Given the description of an element on the screen output the (x, y) to click on. 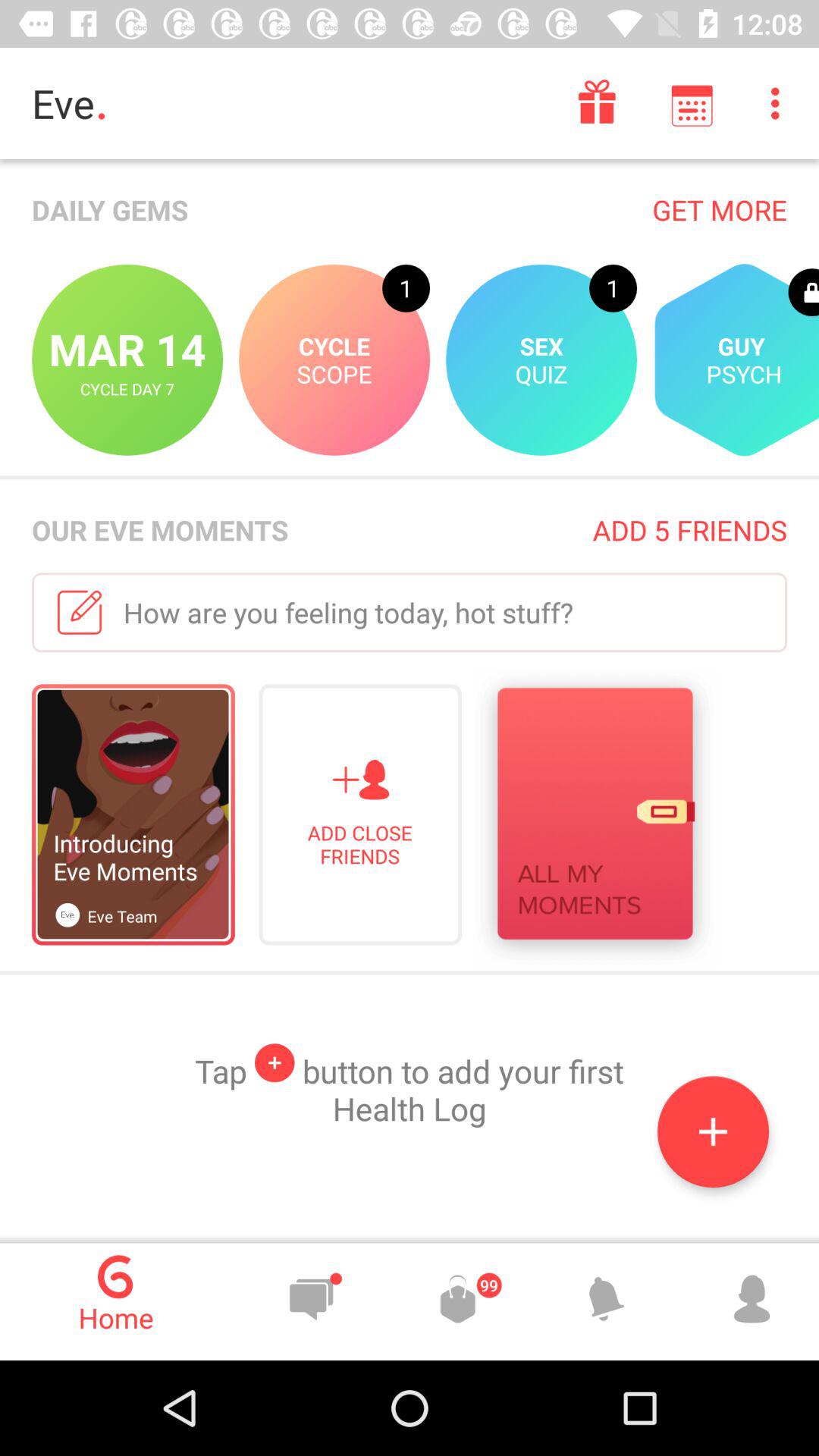
select item to the right of the daily gems icon (719, 209)
